Given the description of an element on the screen output the (x, y) to click on. 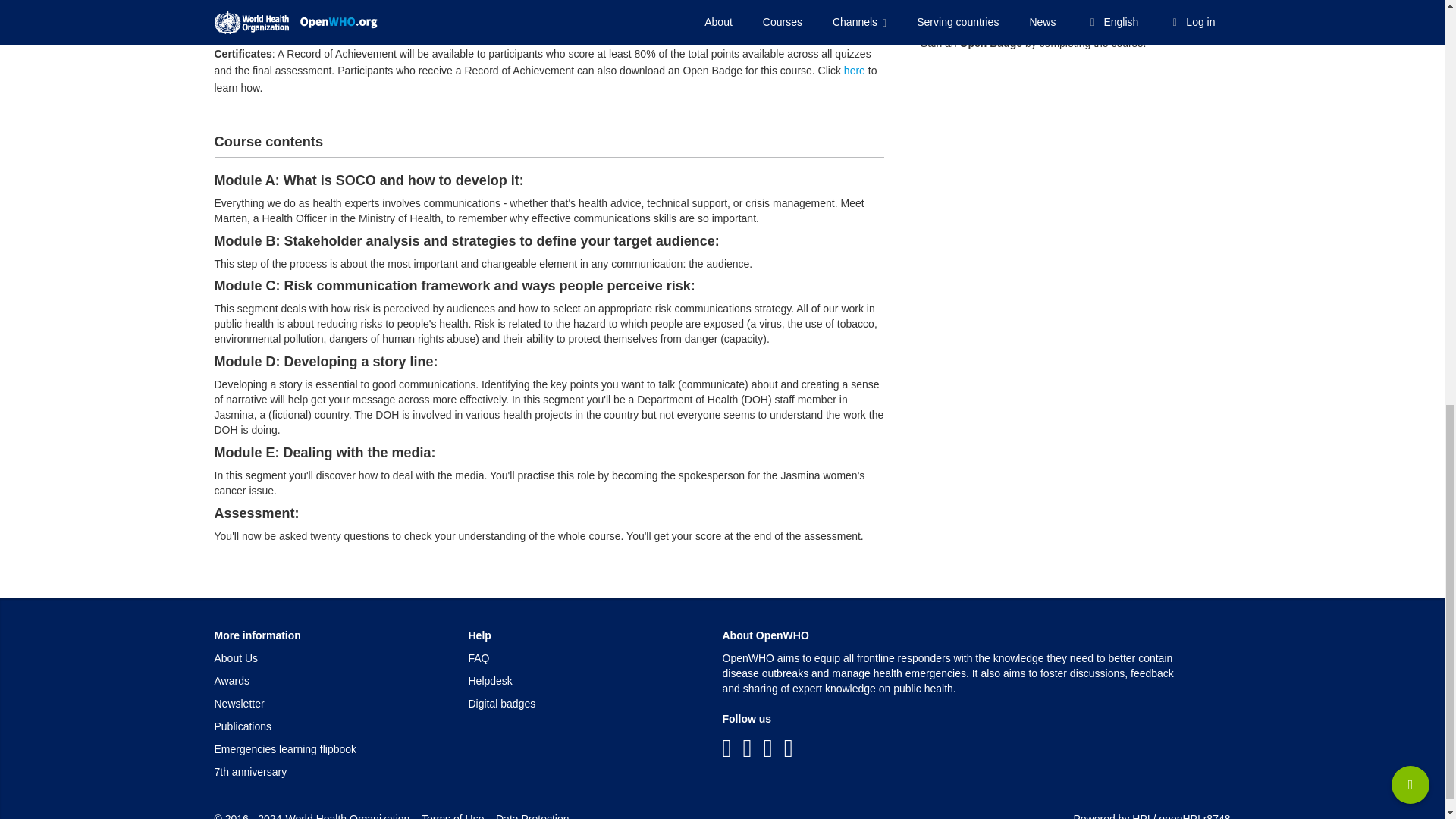
Emergencies learning flipbook (285, 748)
Helpdesk (490, 680)
Publications (242, 726)
Awards (231, 680)
FAQ (478, 657)
YouTube (767, 748)
Newsletter (238, 703)
Digital badges (501, 703)
X, formerly Twitter (747, 748)
Instagram (788, 748)
Facebook (726, 748)
About Us (235, 657)
openHPI (1178, 816)
Data Protection (532, 816)
Terms of Use (452, 816)
